Given the description of an element on the screen output the (x, y) to click on. 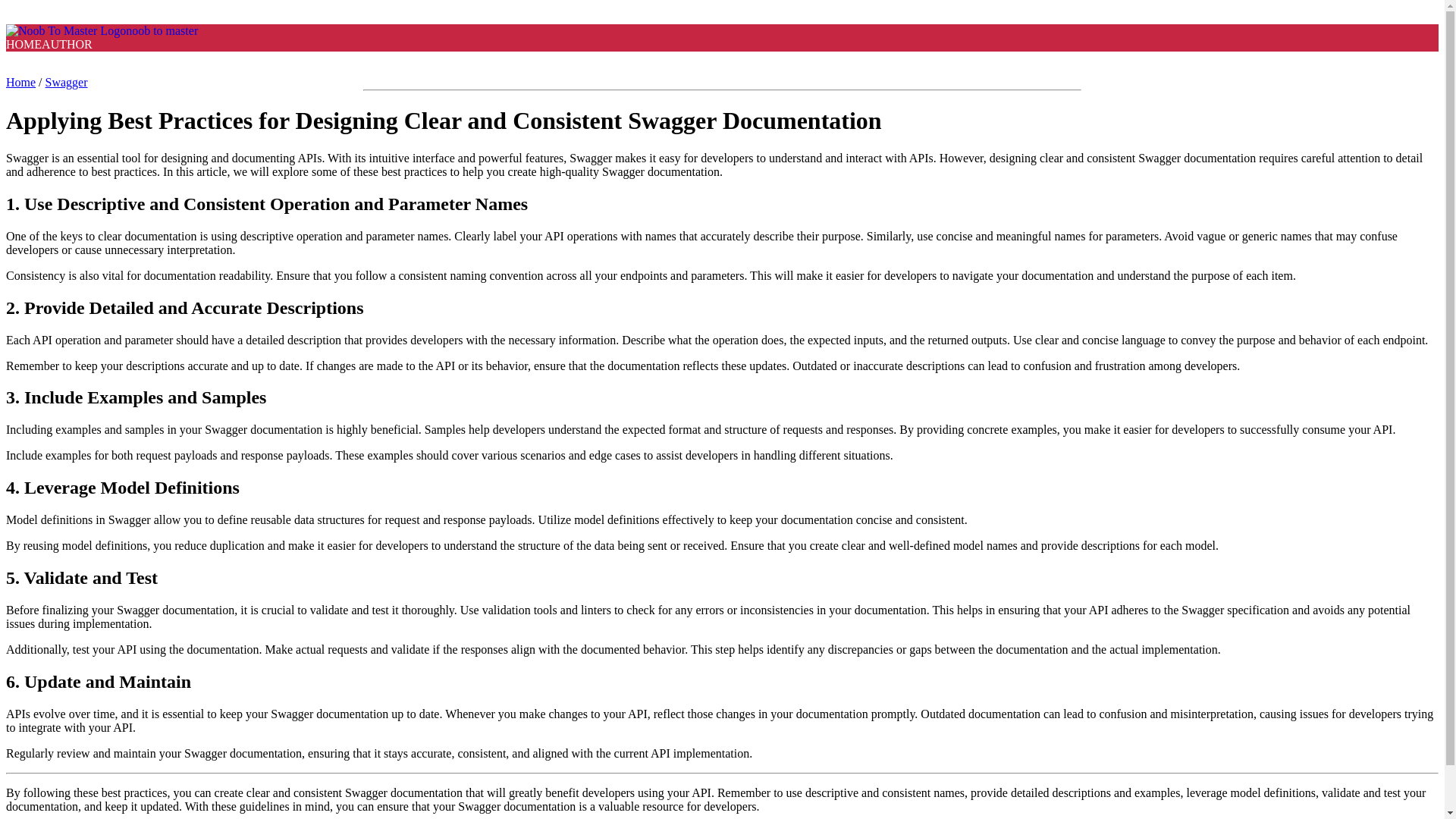
noob to master (101, 30)
Swagger (66, 82)
AUTHOR (67, 43)
HOME (23, 43)
Home (19, 82)
